Given the description of an element on the screen output the (x, y) to click on. 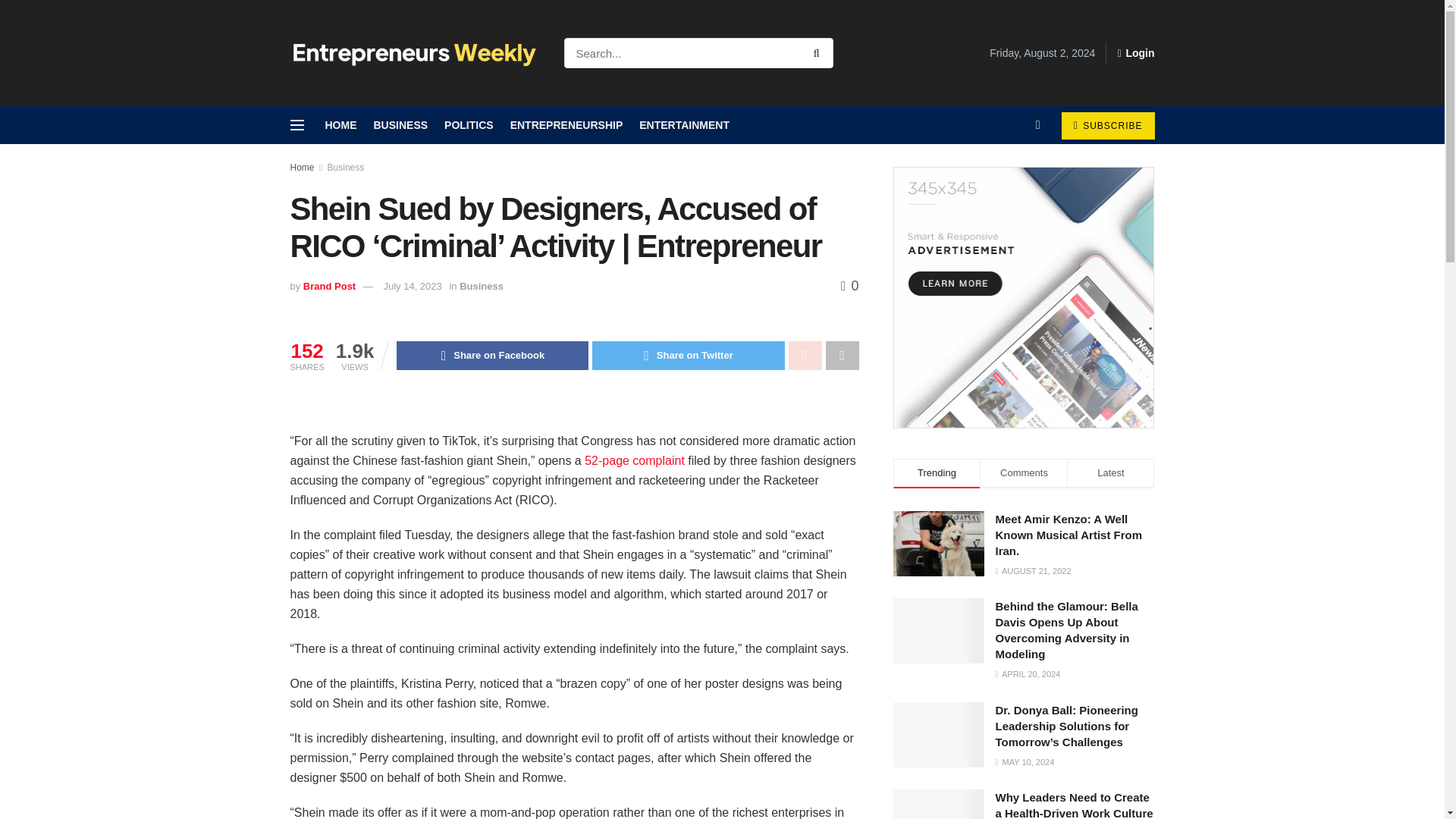
POLITICS (468, 125)
July 14, 2023 (411, 285)
Share on Twitter (688, 355)
Business (346, 167)
Meet Amir Kenzo: A Well Known Musical Artist From Iran. (938, 543)
BUSINESS (400, 125)
Business (481, 285)
ENTERTAINMENT (684, 125)
ENTREPRENEURSHIP (567, 125)
SUBSCRIBE (1107, 125)
0 (850, 285)
Share on Facebook (492, 355)
52-page complaint (634, 460)
Home (301, 167)
Login (1135, 53)
